Given the description of an element on the screen output the (x, y) to click on. 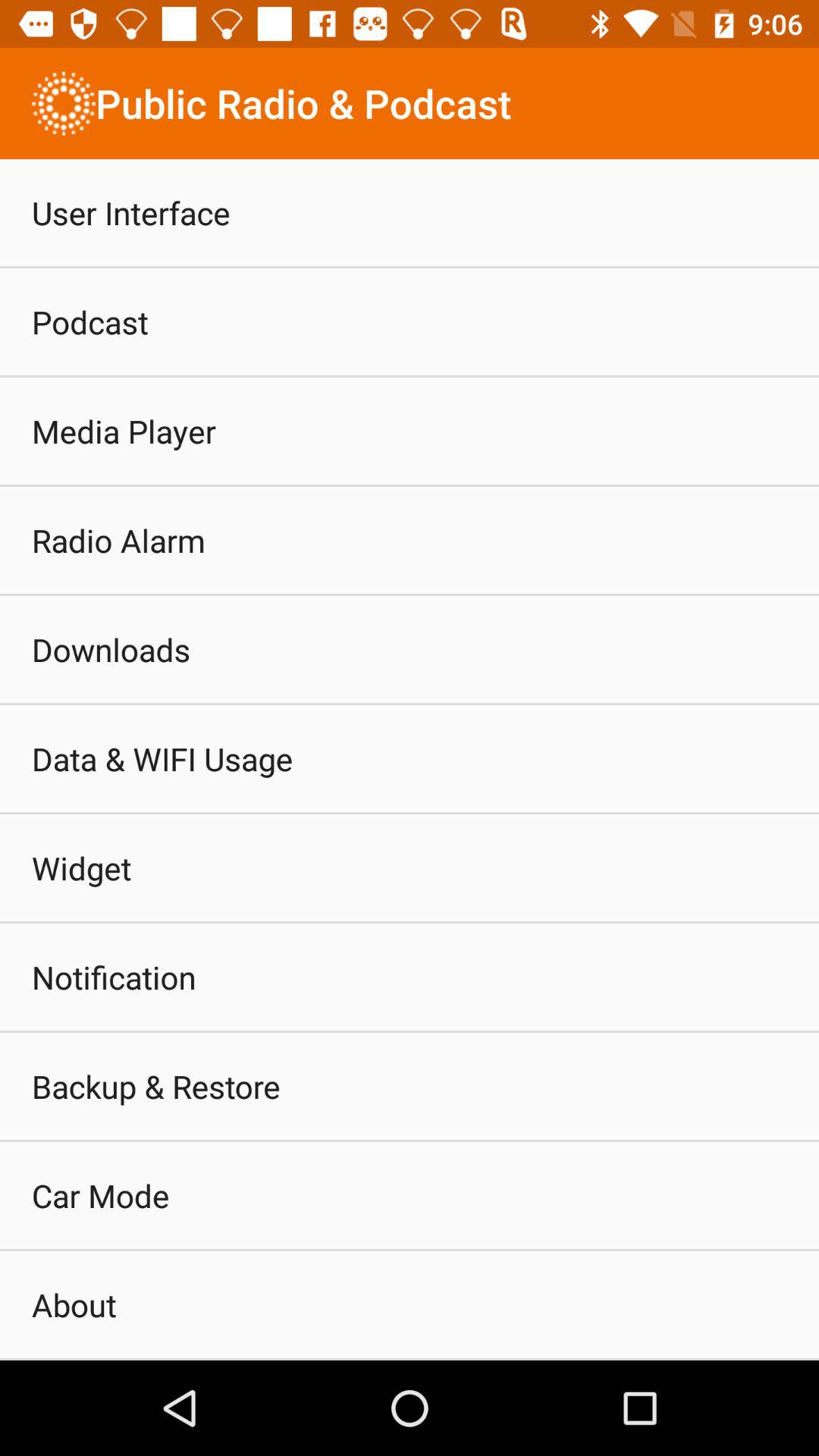
press app above widget item (161, 758)
